Given the description of an element on the screen output the (x, y) to click on. 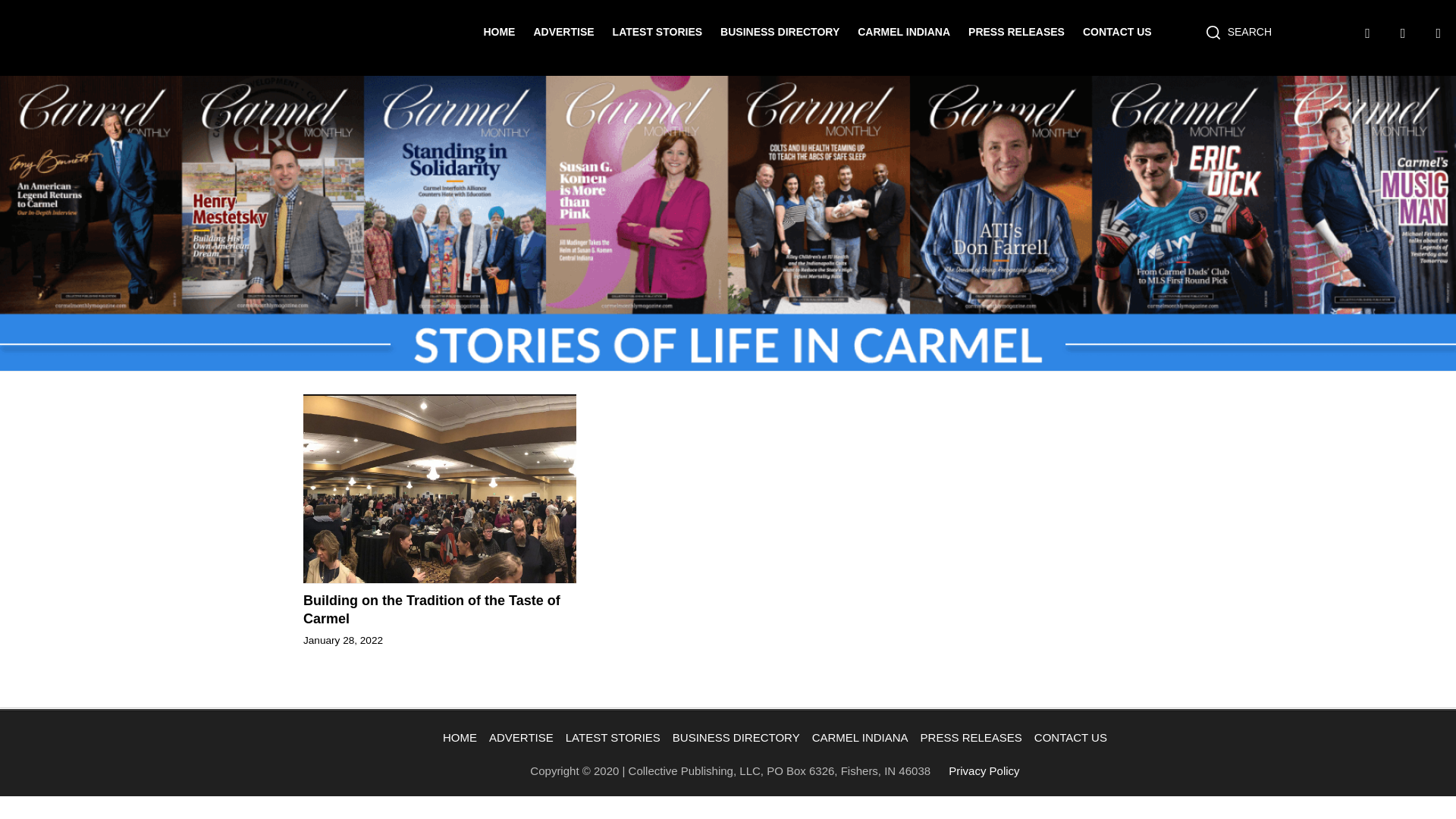
Building on the Tradition of the Taste of Carmel (439, 609)
ADVERTISE (563, 31)
PRESS RELEASES (970, 737)
PRESS RELEASES (1016, 31)
CARMEL INDIANA (903, 31)
CONTACT US (1117, 31)
Privacy Policy (984, 770)
LATEST STORIES (612, 737)
CARMEL INDIANA (860, 737)
BUSINESS DIRECTORY (780, 31)
